Given the description of an element on the screen output the (x, y) to click on. 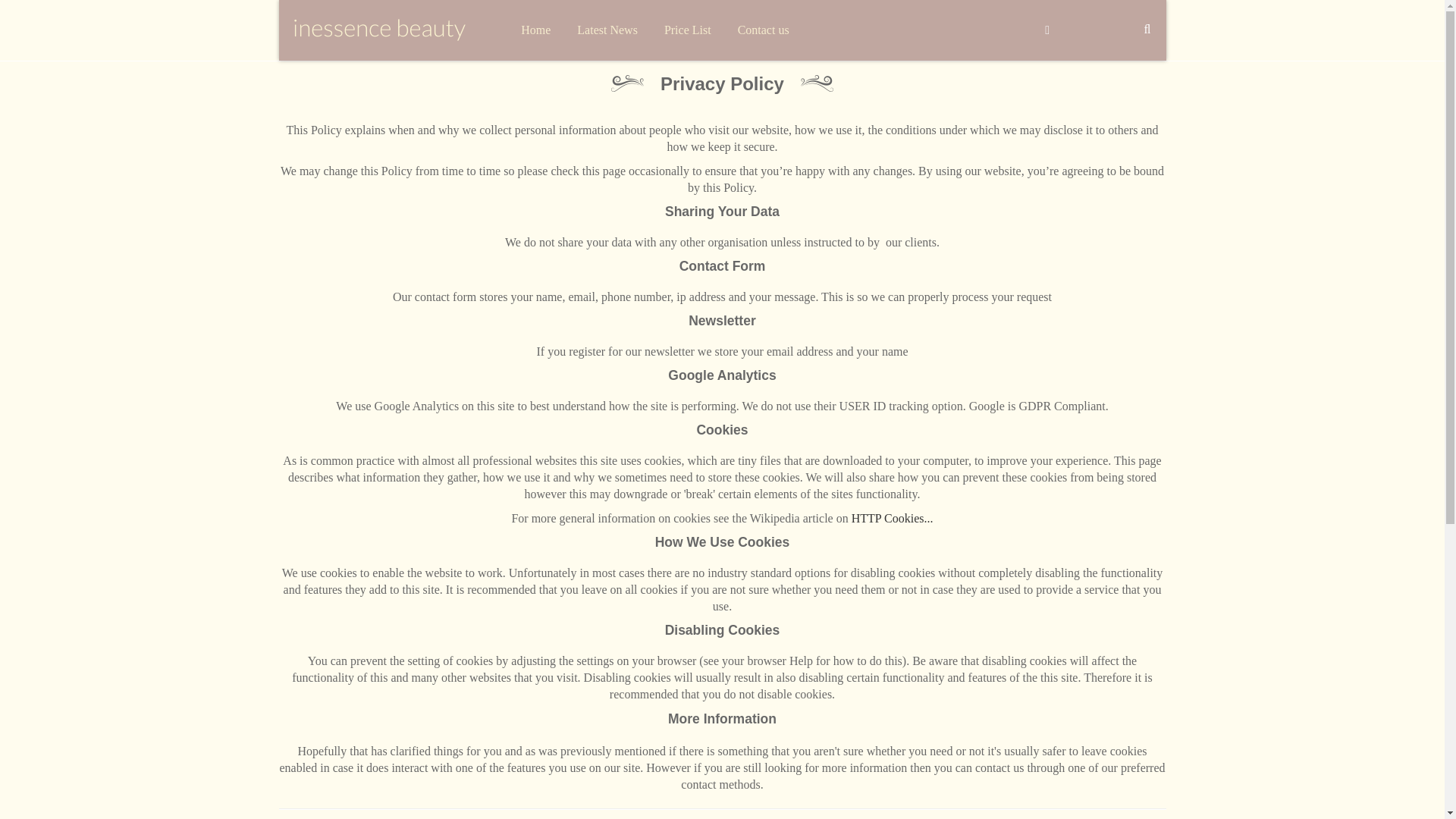
Latest News (607, 30)
HTTP Cookies... (892, 517)
Home (535, 30)
Visit Wikipedia ... (892, 517)
Contact us (763, 30)
Price List (687, 30)
